Given the description of an element on the screen output the (x, y) to click on. 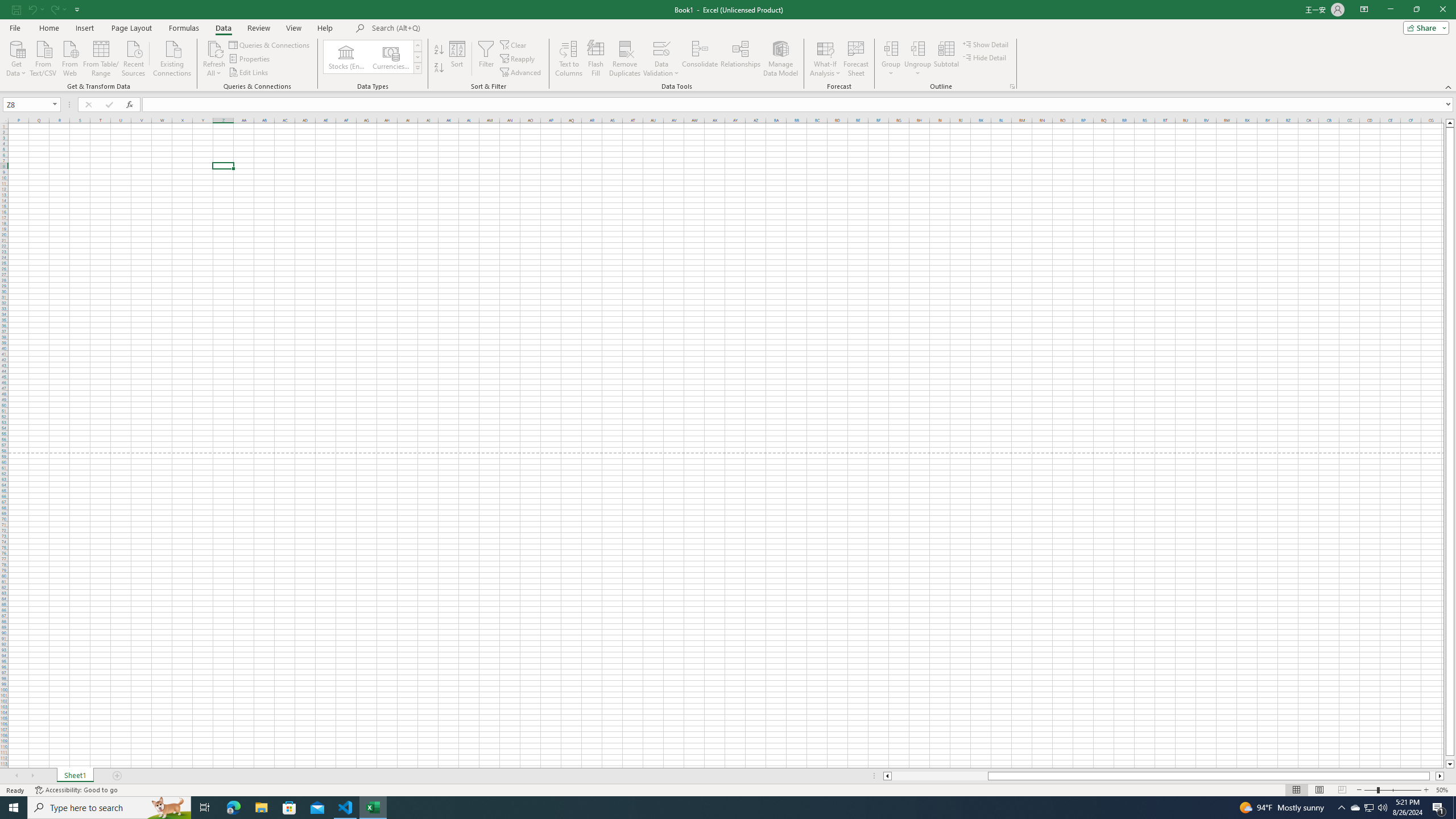
From Text/CSV (43, 57)
From Table/Range (100, 57)
Edit Links (249, 72)
Class: NetUIImage (418, 68)
Subtotal (946, 58)
Sort A to Z (438, 49)
Forecast Sheet (856, 58)
Show Detail (985, 44)
